Given the description of an element on the screen output the (x, y) to click on. 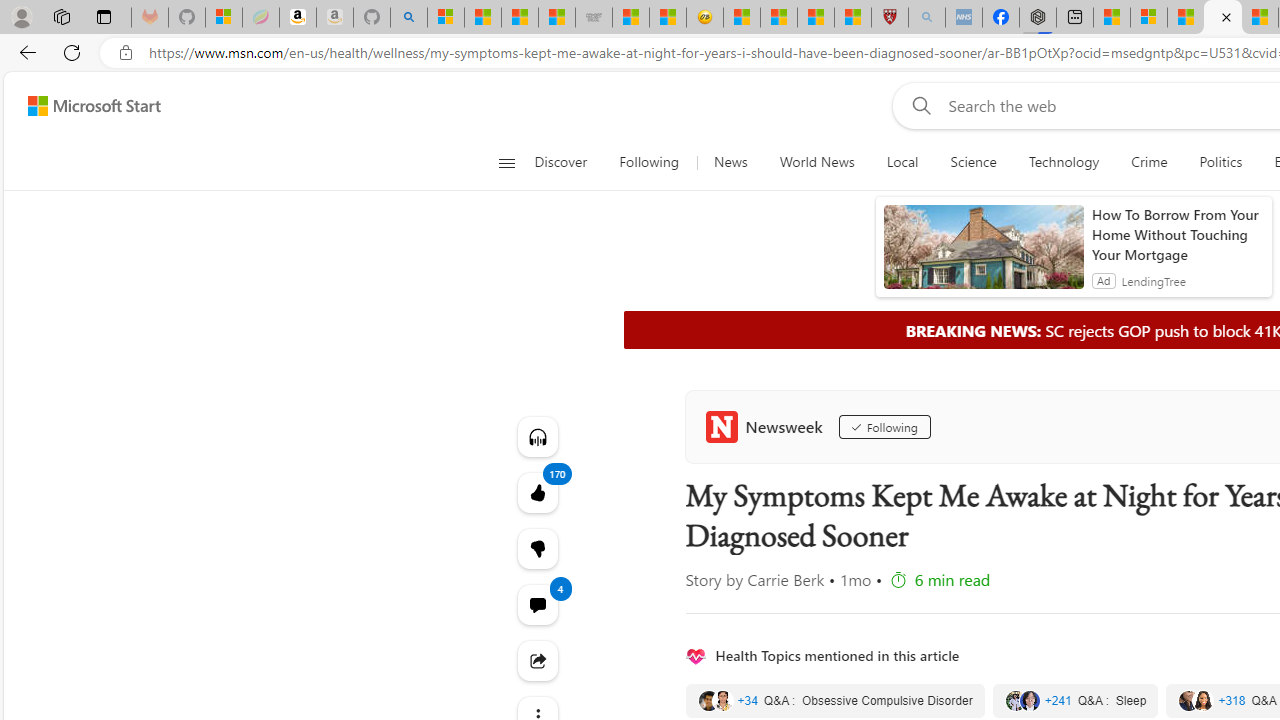
170 Like (537, 492)
Class: at-item (537, 660)
Obsessive Compulsive Disorder (834, 700)
Sleep (1075, 700)
